Given the description of an element on the screen output the (x, y) to click on. 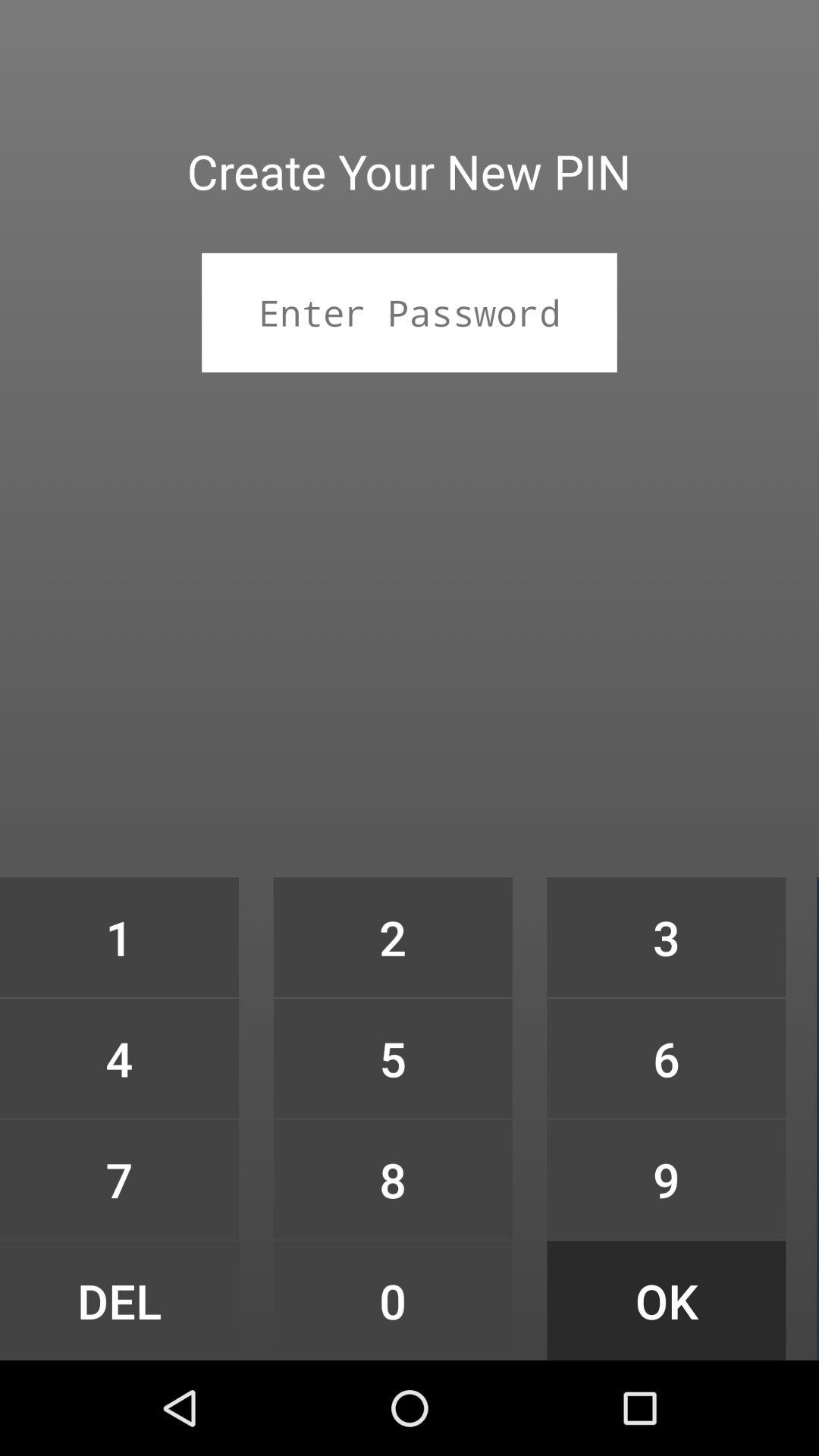
scroll until the 5 item (392, 1058)
